Given the description of an element on the screen output the (x, y) to click on. 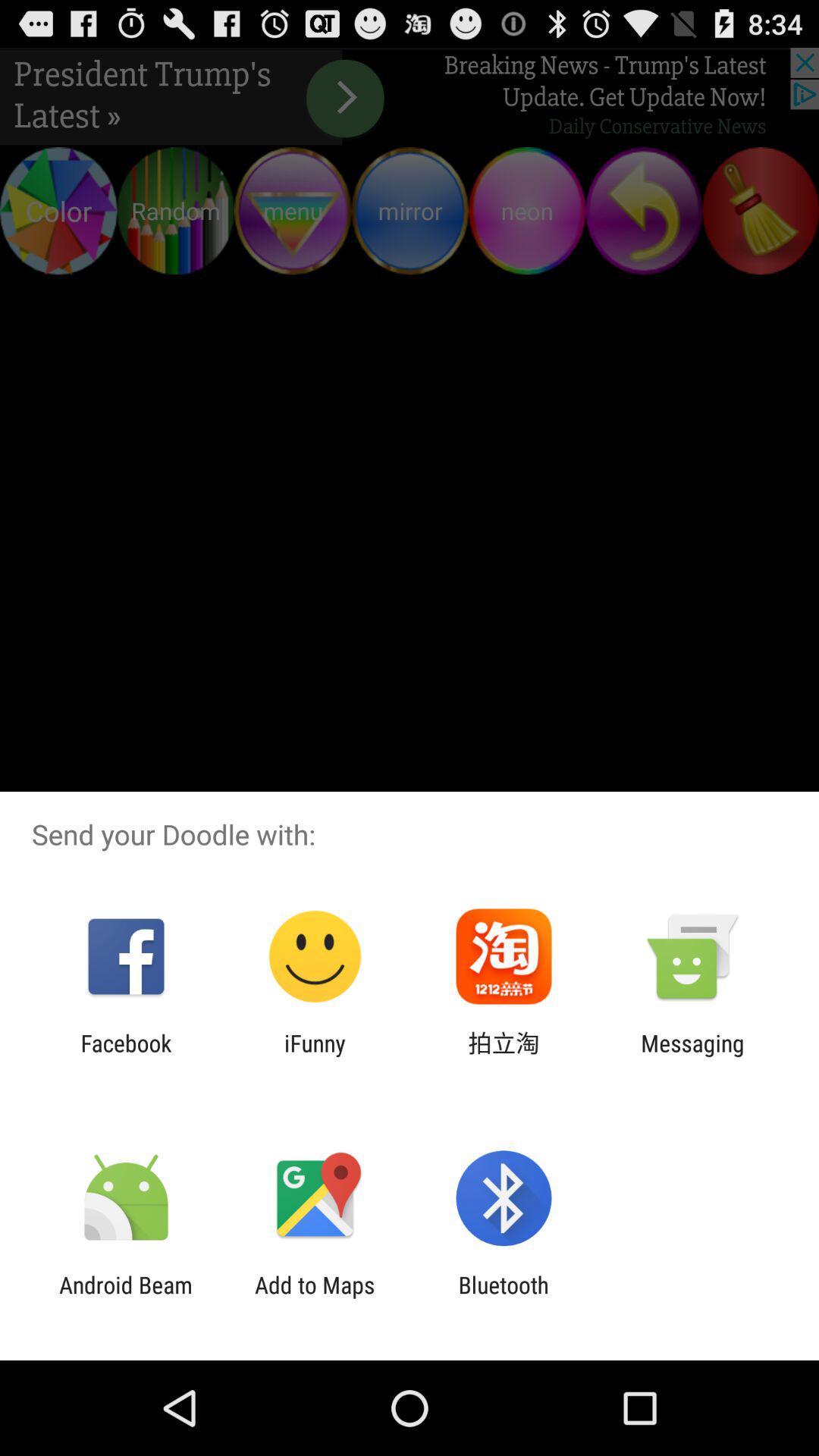
select app to the right of facebook (314, 1056)
